Given the description of an element on the screen output the (x, y) to click on. 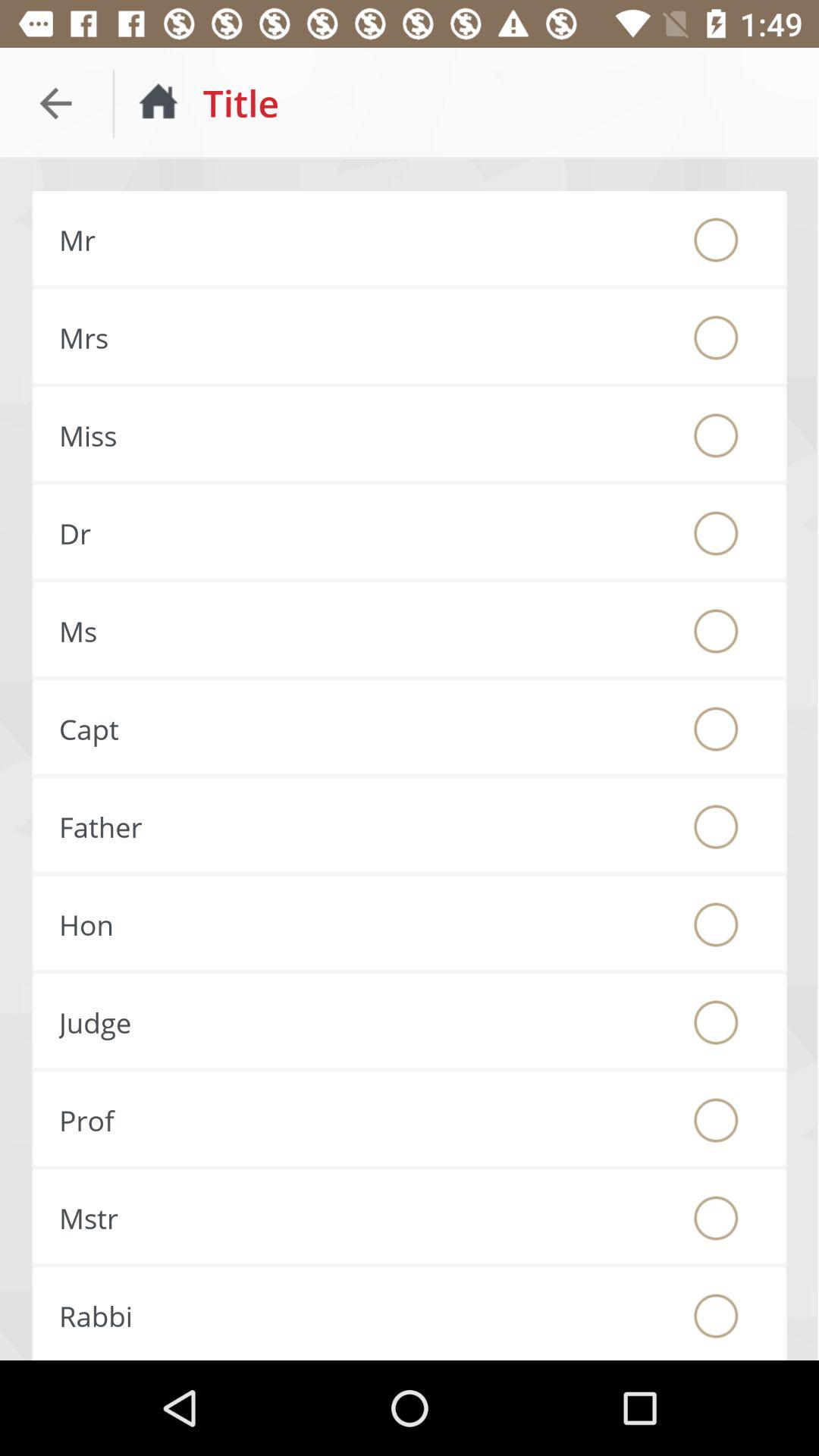
dr. title (715, 533)
